Given the description of an element on the screen output the (x, y) to click on. 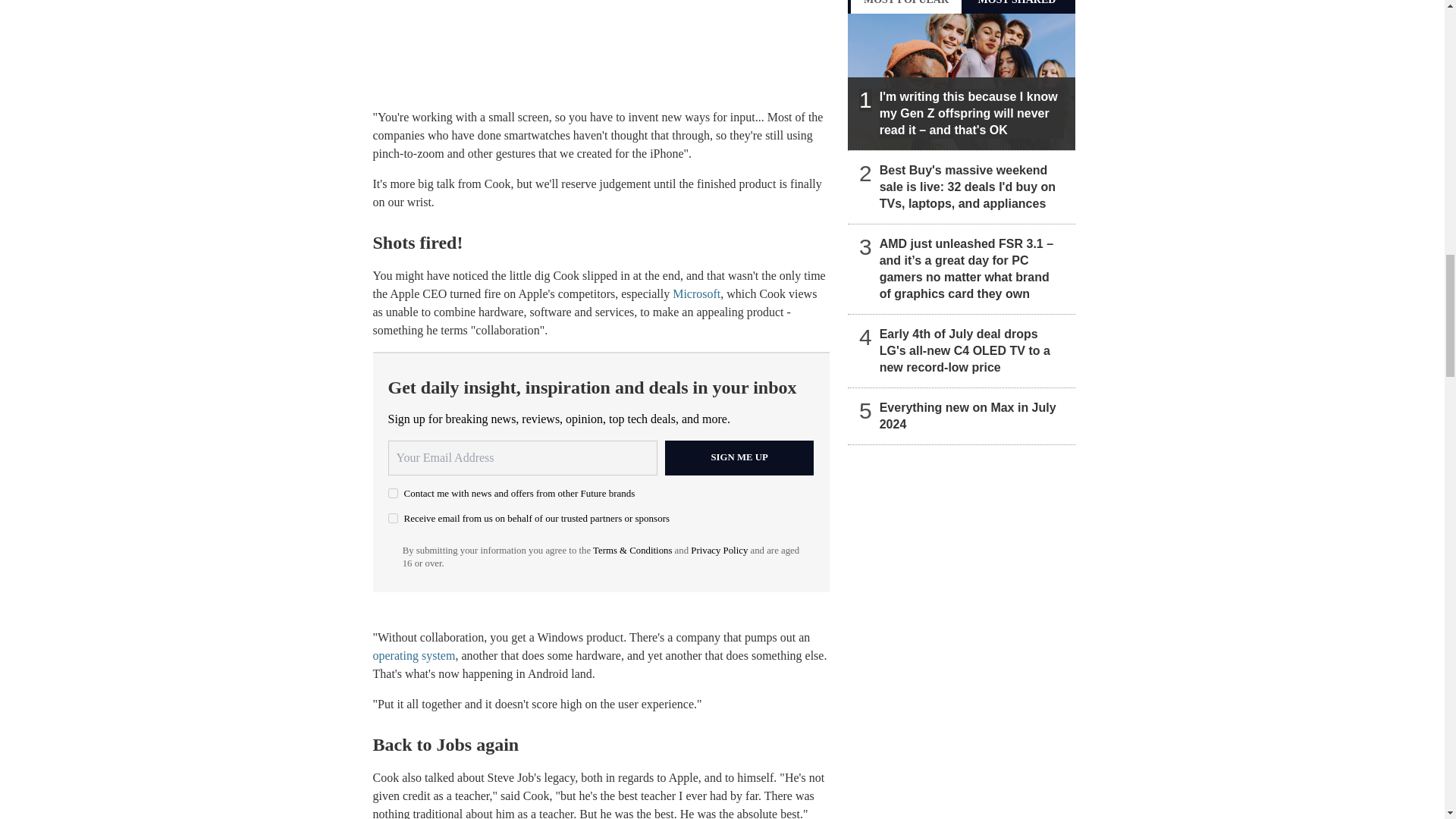
on (392, 518)
on (392, 492)
Sign me up (739, 457)
